Given the description of an element on the screen output the (x, y) to click on. 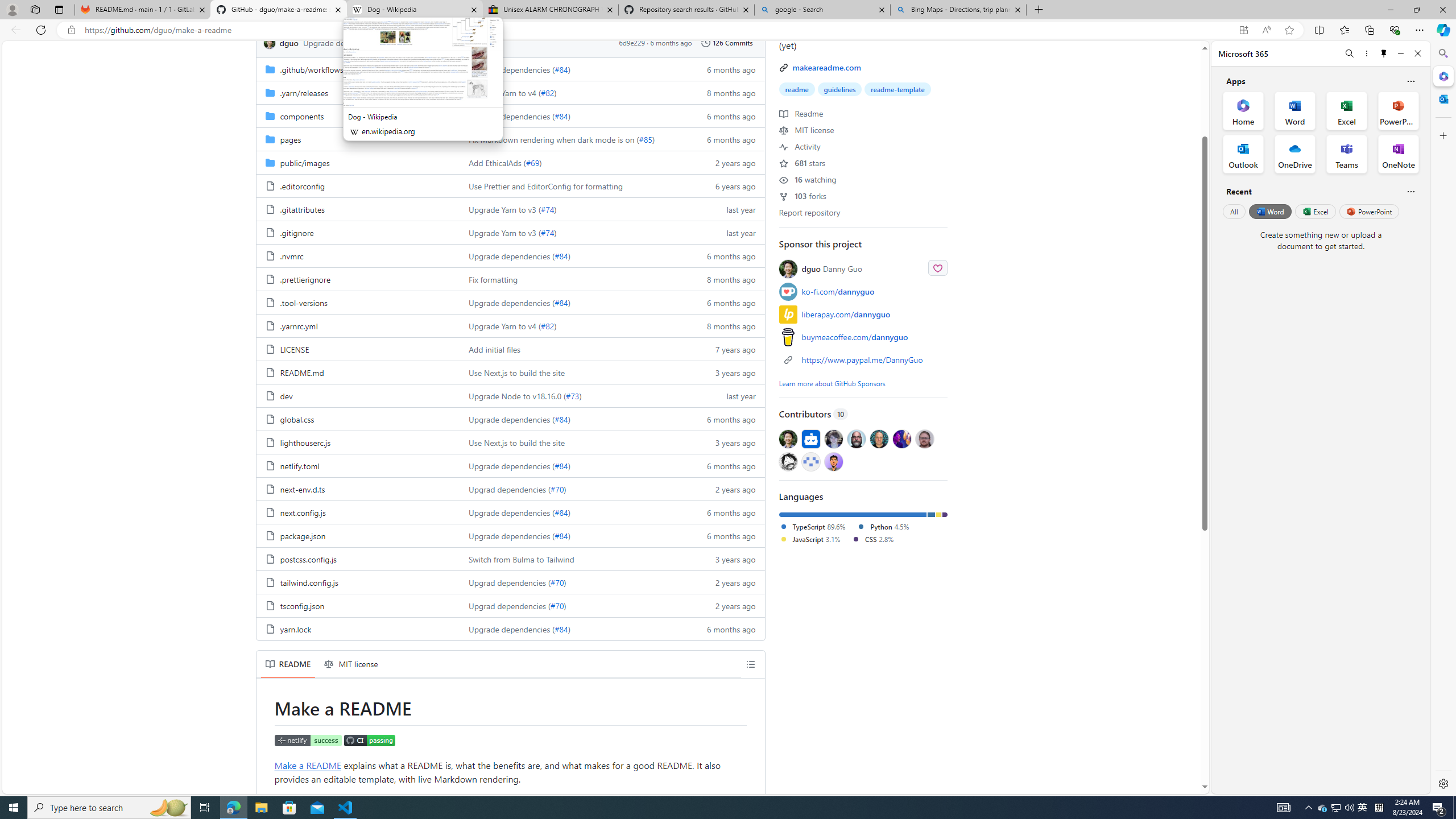
netlify.toml, (File) (358, 465)
Customize (1442, 135)
Add initial files (494, 348)
AutomationID: folder-row-15 (510, 418)
Word (1269, 210)
@Haroenv (901, 438)
package.json, (File) (358, 535)
dev, (File) (285, 395)
AutomationID: folder-row-4 (510, 161)
README.md, (File) (301, 372)
Class: mb-2 mr-2 (833, 461)
More options (1366, 53)
next.config.js, (File) (302, 512)
Side bar (1443, 418)
liberapay (787, 313)
